Given the description of an element on the screen output the (x, y) to click on. 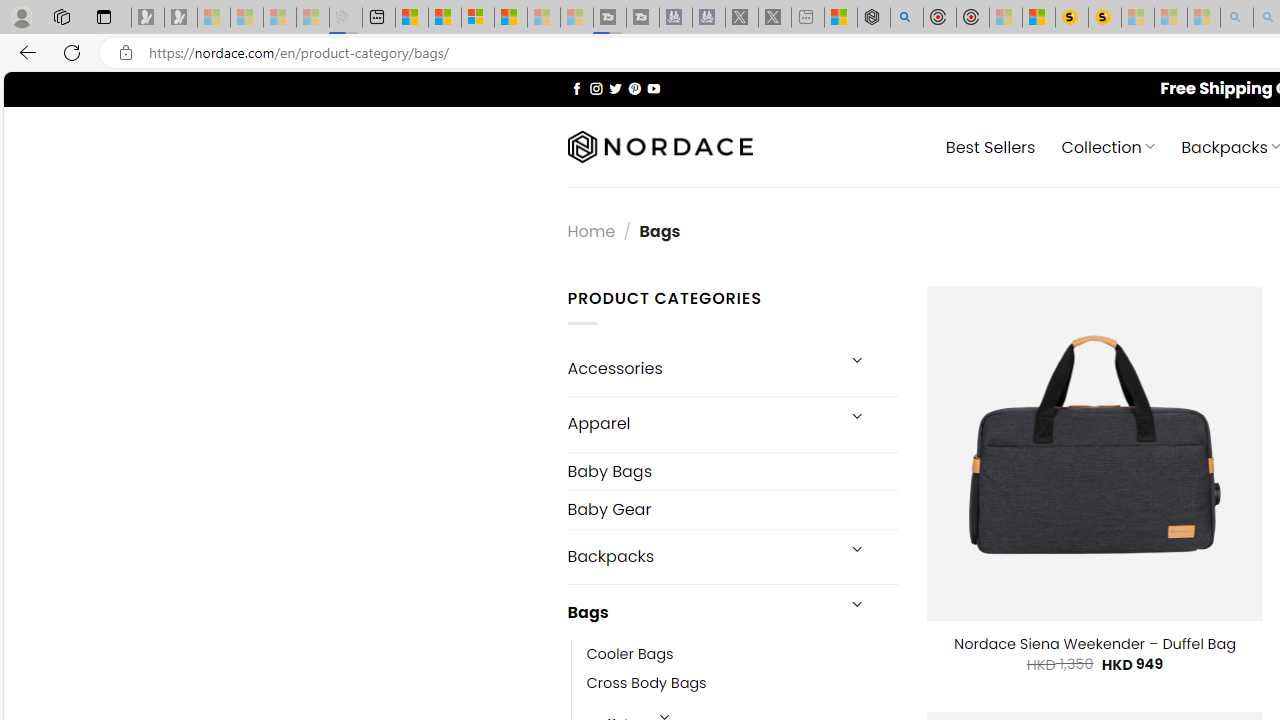
Follow on Facebook (576, 88)
Cross Body Bags (646, 683)
poe - Search (906, 17)
Cooler Bags (630, 655)
X - Sleeping (775, 17)
amazon - Search - Sleeping (1237, 17)
 Best Sellers (989, 146)
Workspaces (61, 16)
Overview (478, 17)
Cross Body Bags (742, 683)
Nordace (659, 147)
